Given the description of an element on the screen output the (x, y) to click on. 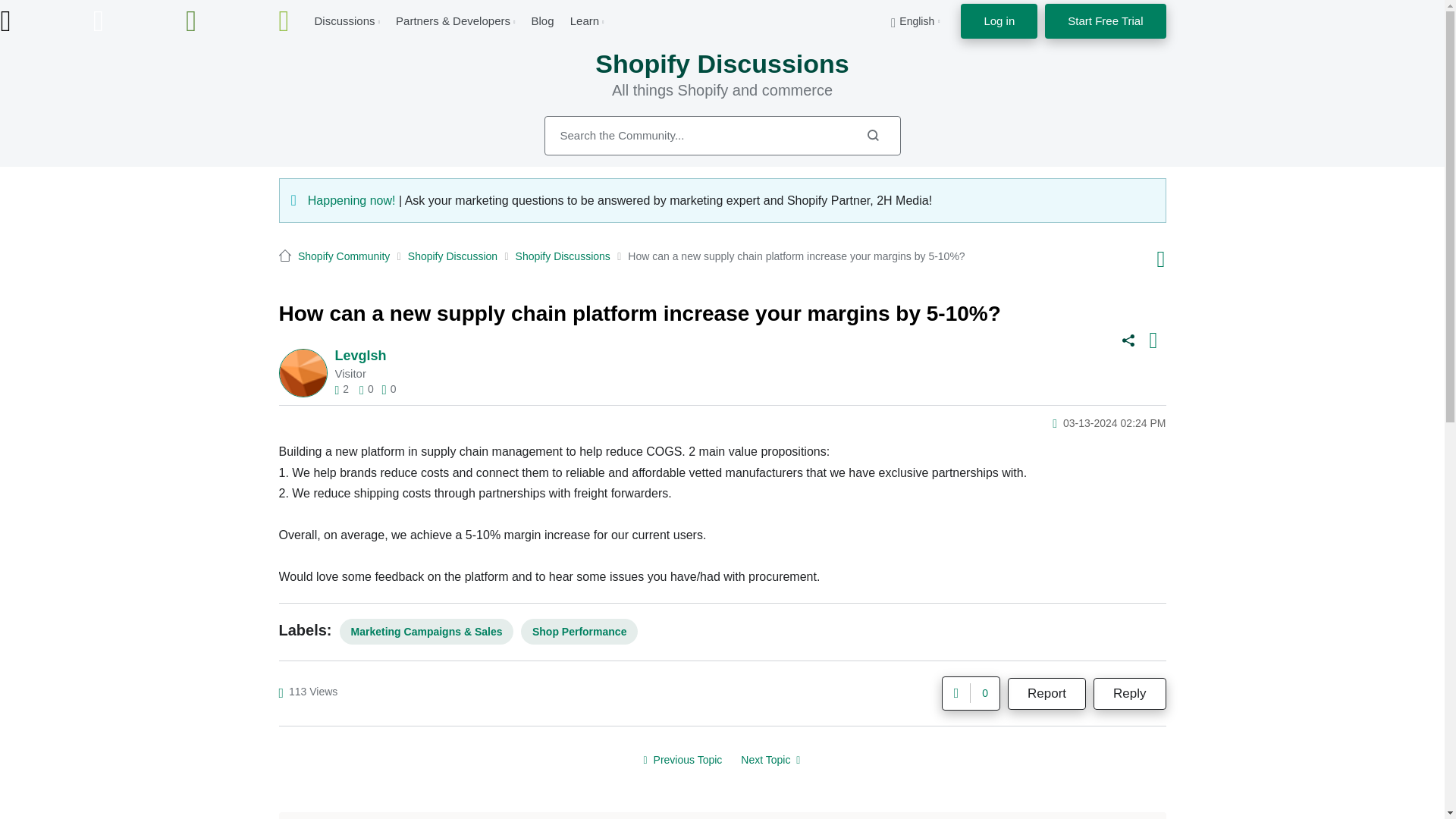
Discussions (344, 20)
Search (722, 135)
Search (872, 135)
Search (872, 135)
